Given the description of an element on the screen output the (x, y) to click on. 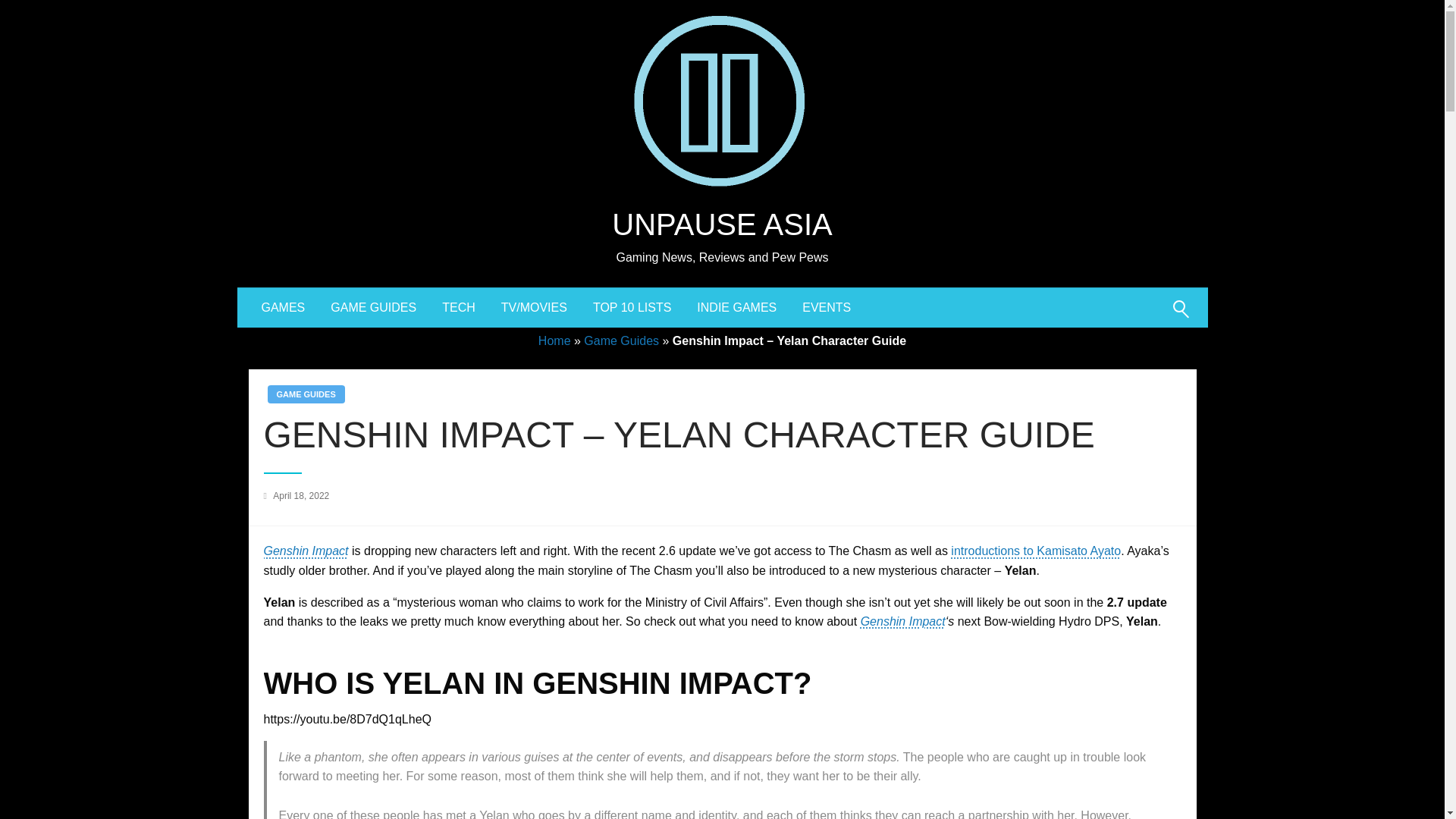
Game Guides (621, 340)
Genshin Impact (306, 550)
GAME GUIDES (304, 393)
Home (554, 340)
EVENTS (826, 307)
Search (1144, 318)
GAME GUIDES (373, 307)
April 18, 2022 (301, 495)
GAMES (283, 307)
TECH (458, 307)
